Given the description of an element on the screen output the (x, y) to click on. 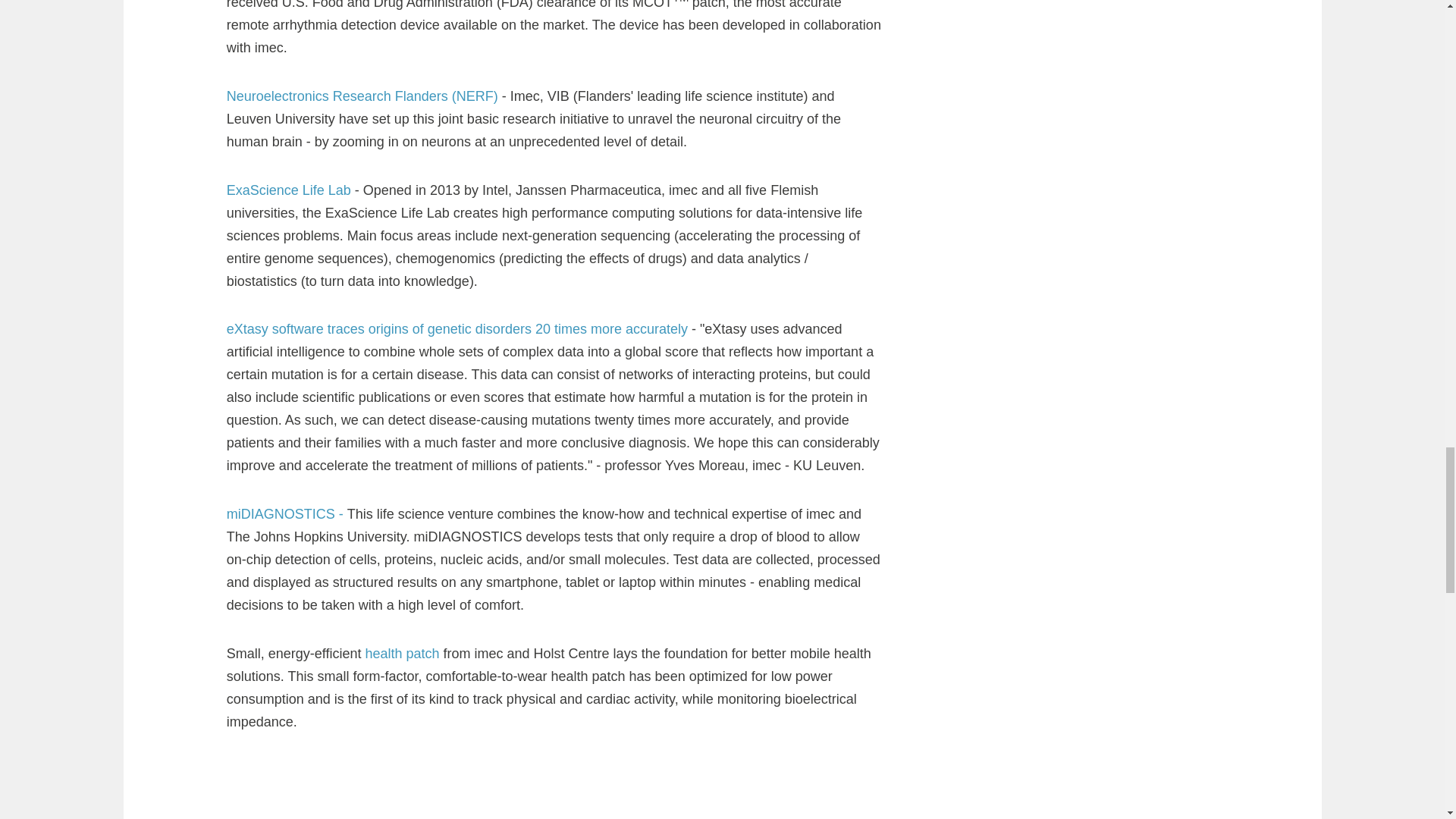
health patch  (403, 653)
ExaScience Life Lab  (291, 190)
miDIAGNOSTICS -  (287, 514)
